Given the description of an element on the screen output the (x, y) to click on. 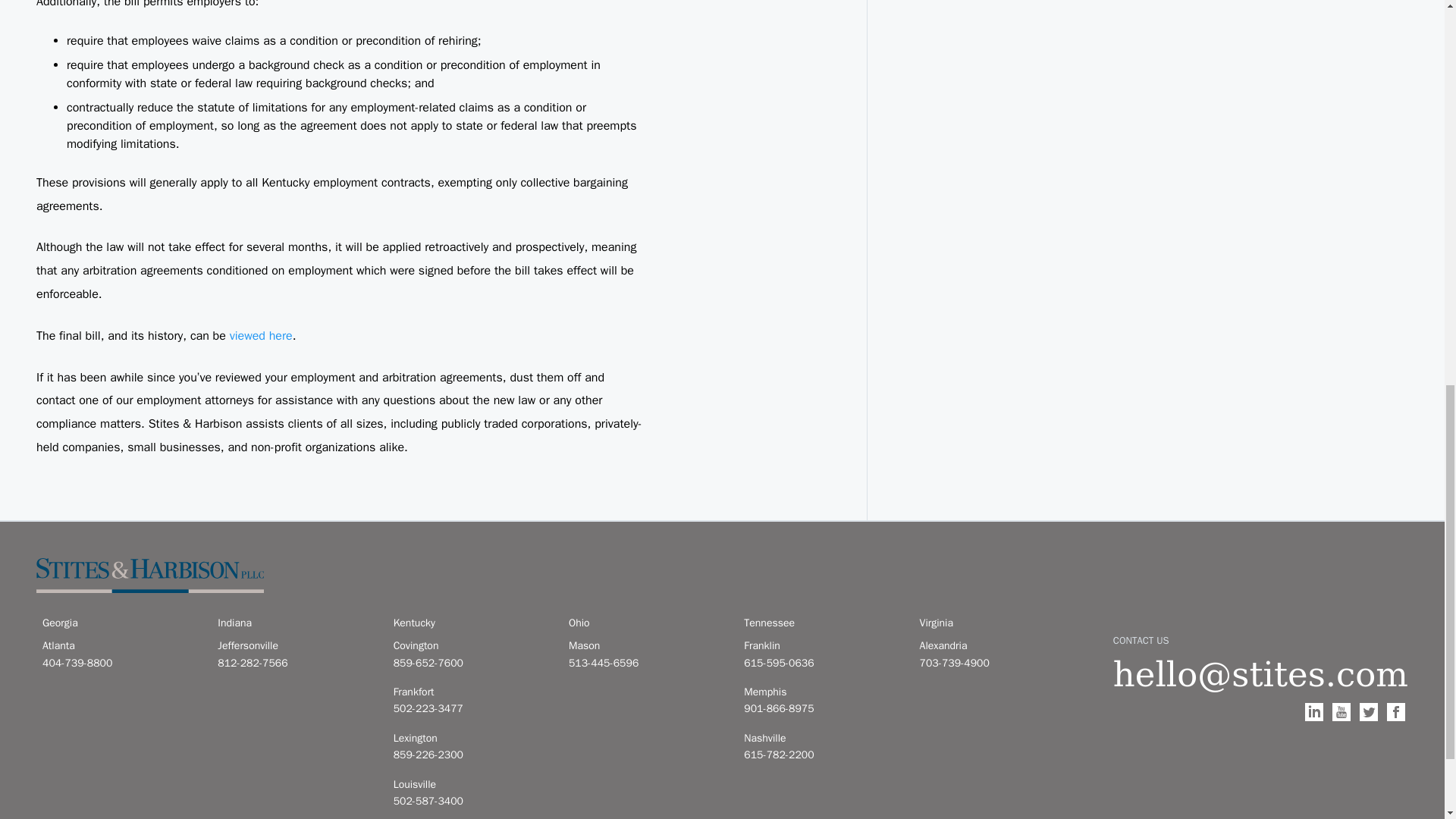
Franklin (822, 646)
Covington (471, 646)
615-782-2200 (822, 754)
Nashville (822, 738)
Louisville (471, 784)
Alexandria (998, 646)
404-739-8800 (120, 663)
Lexington (471, 738)
615-595-0636 (822, 663)
859-226-2300 (471, 754)
502-223-3477 (471, 709)
502-587-3400 (471, 801)
513-445-6596 (647, 663)
Memphis (822, 692)
812-282-7566 (295, 663)
